Given the description of an element on the screen output the (x, y) to click on. 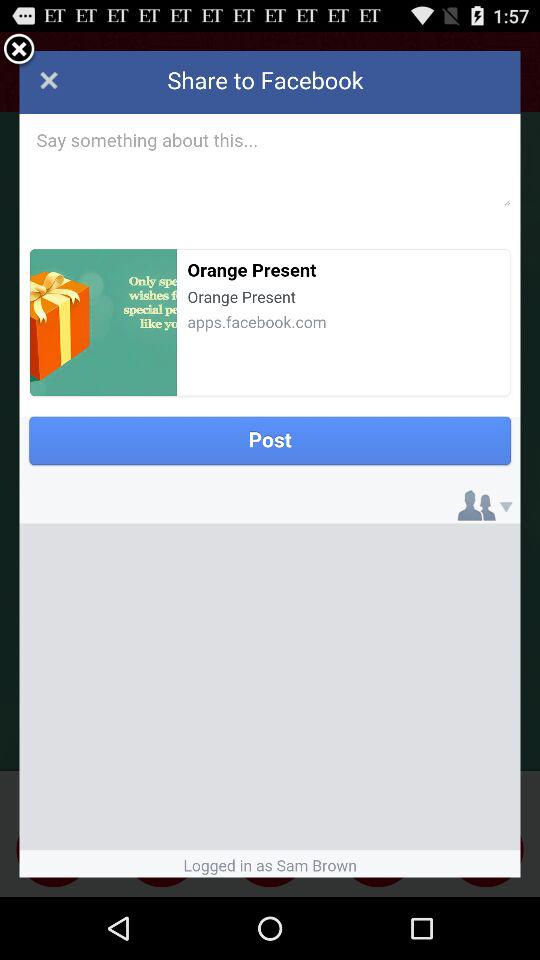
open the icon at the center (269, 464)
